Given the description of an element on the screen output the (x, y) to click on. 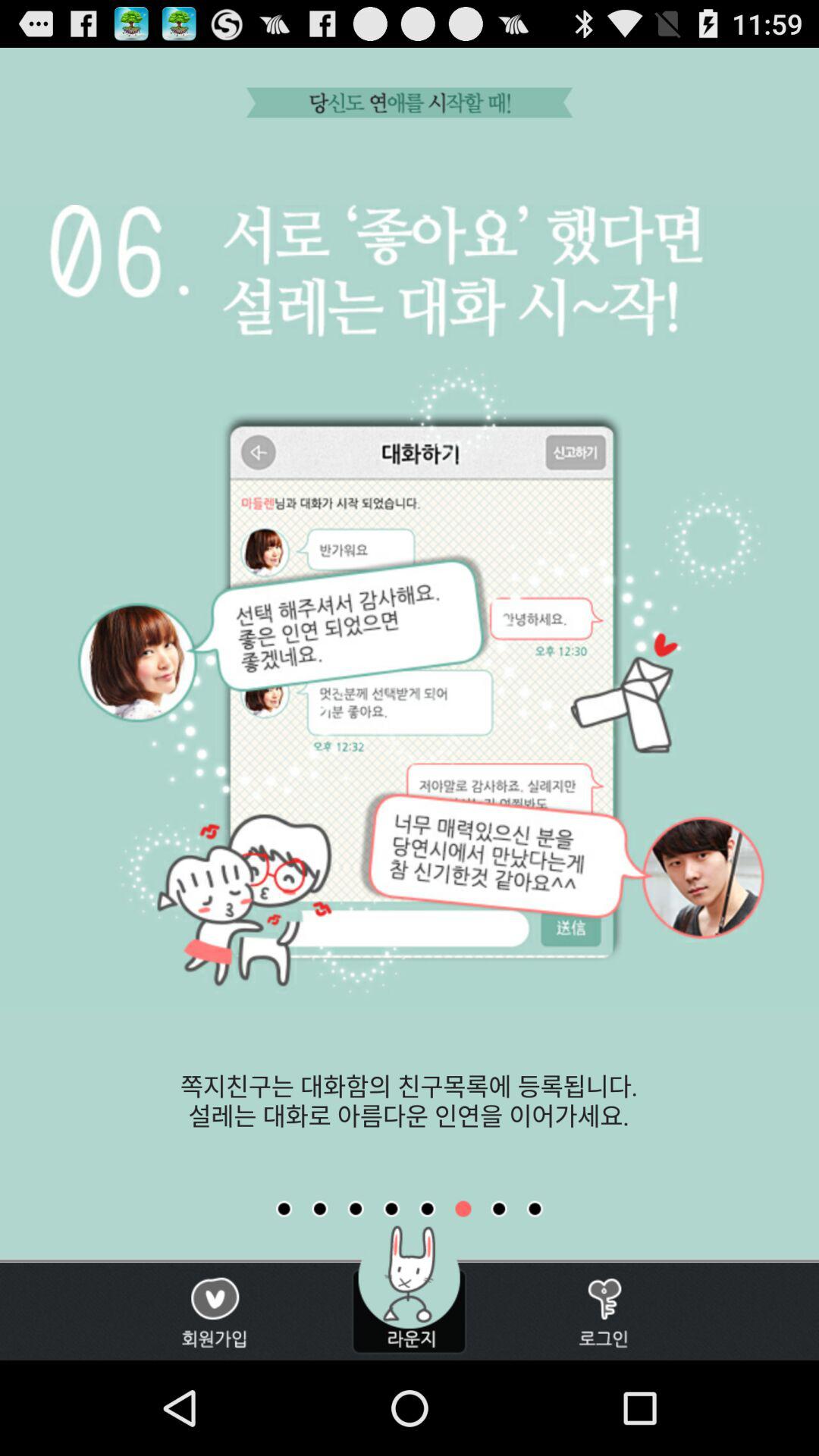
change page (355, 1208)
